Given the description of an element on the screen output the (x, y) to click on. 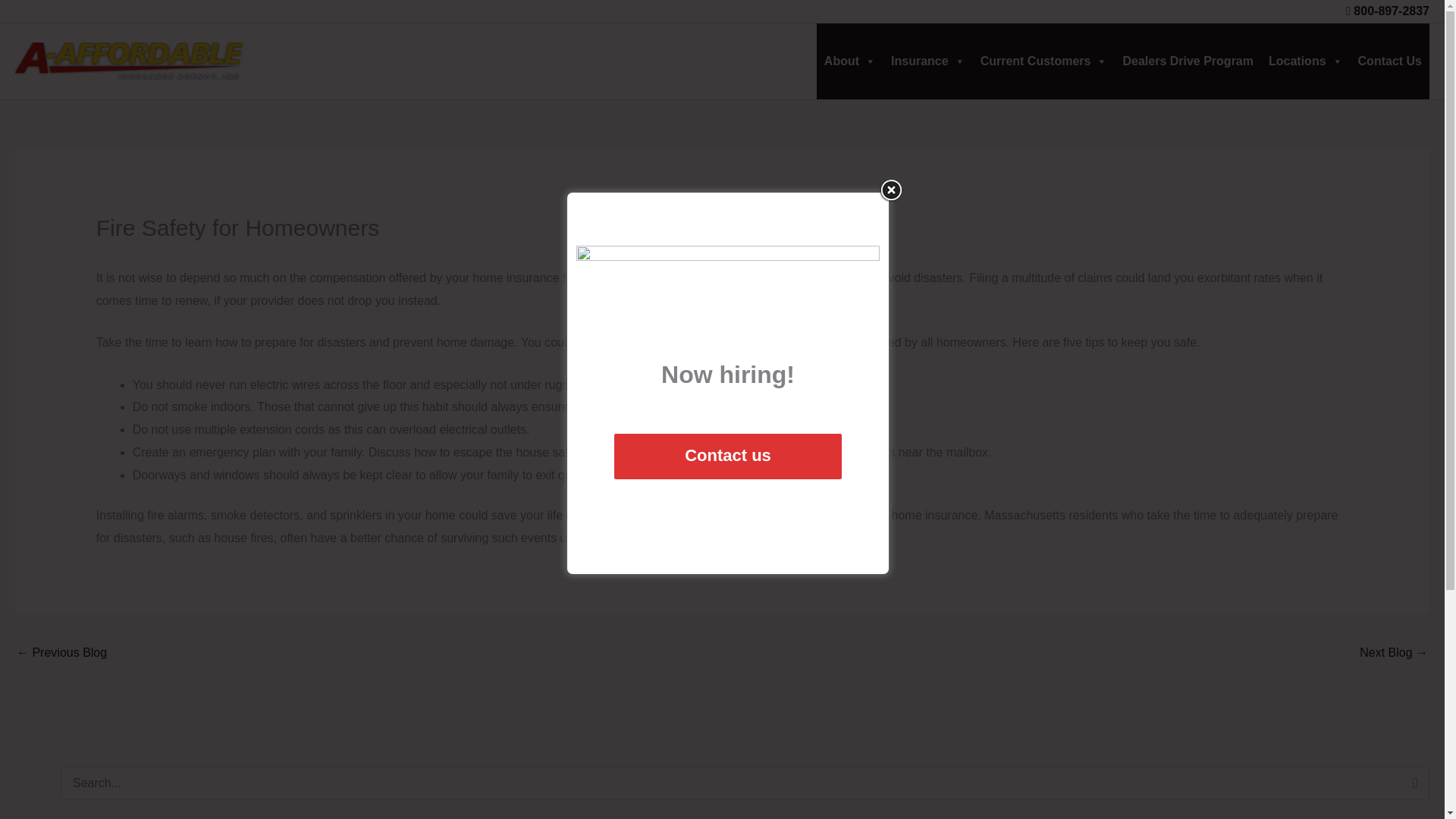
Close (890, 190)
Massachusetts Residents: High Risk for Flooding (1393, 653)
About (849, 60)
Dealers Drive Program (1187, 60)
Why You Should Spend Money on Home Insurance (61, 653)
Current Customers (1043, 60)
Insurance (927, 60)
Locations (1305, 60)
800-897-2837 (1391, 10)
